Given the description of an element on the screen output the (x, y) to click on. 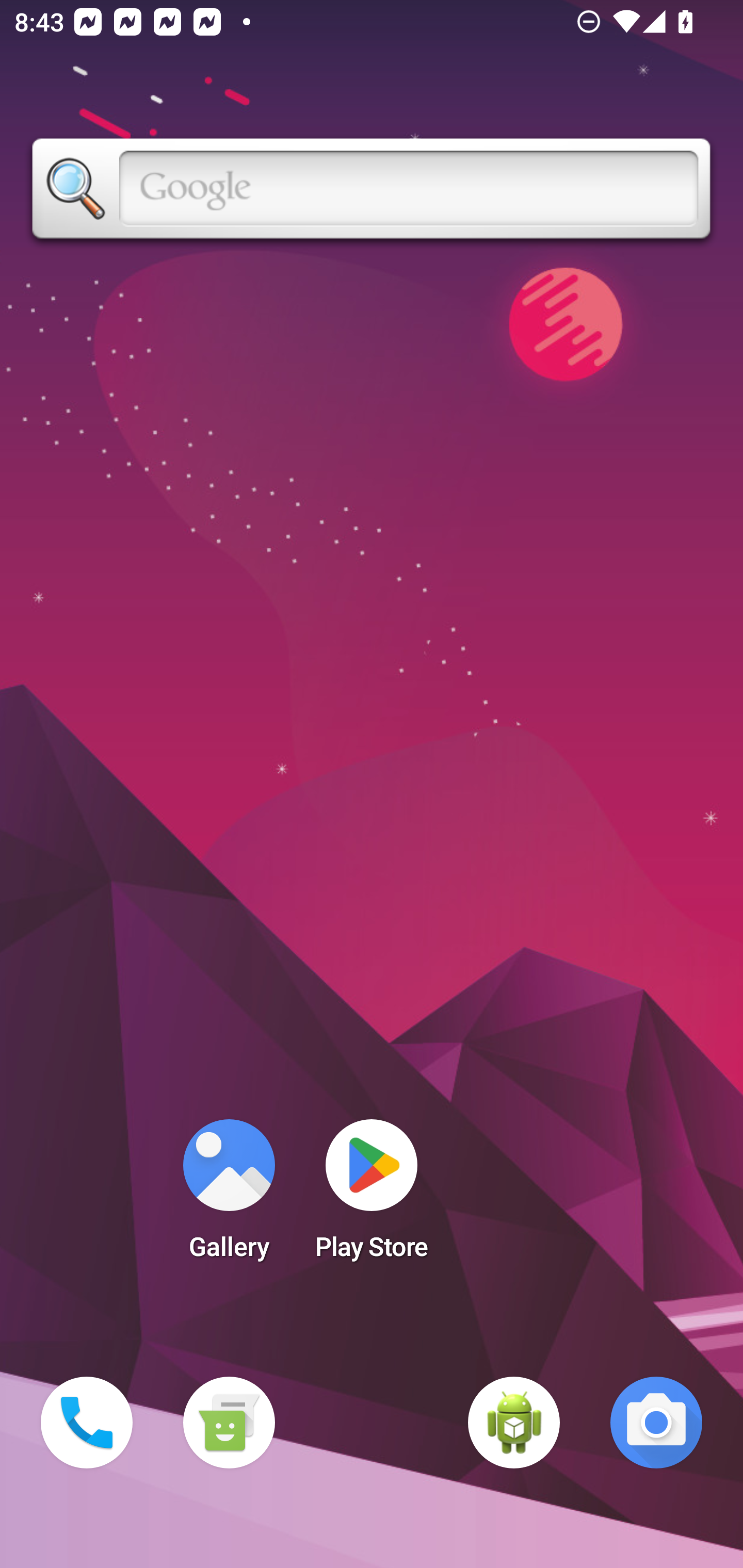
Gallery (228, 1195)
Play Store (371, 1195)
Phone (86, 1422)
Messaging (228, 1422)
WebView Browser Tester (513, 1422)
Camera (656, 1422)
